Given the description of an element on the screen output the (x, y) to click on. 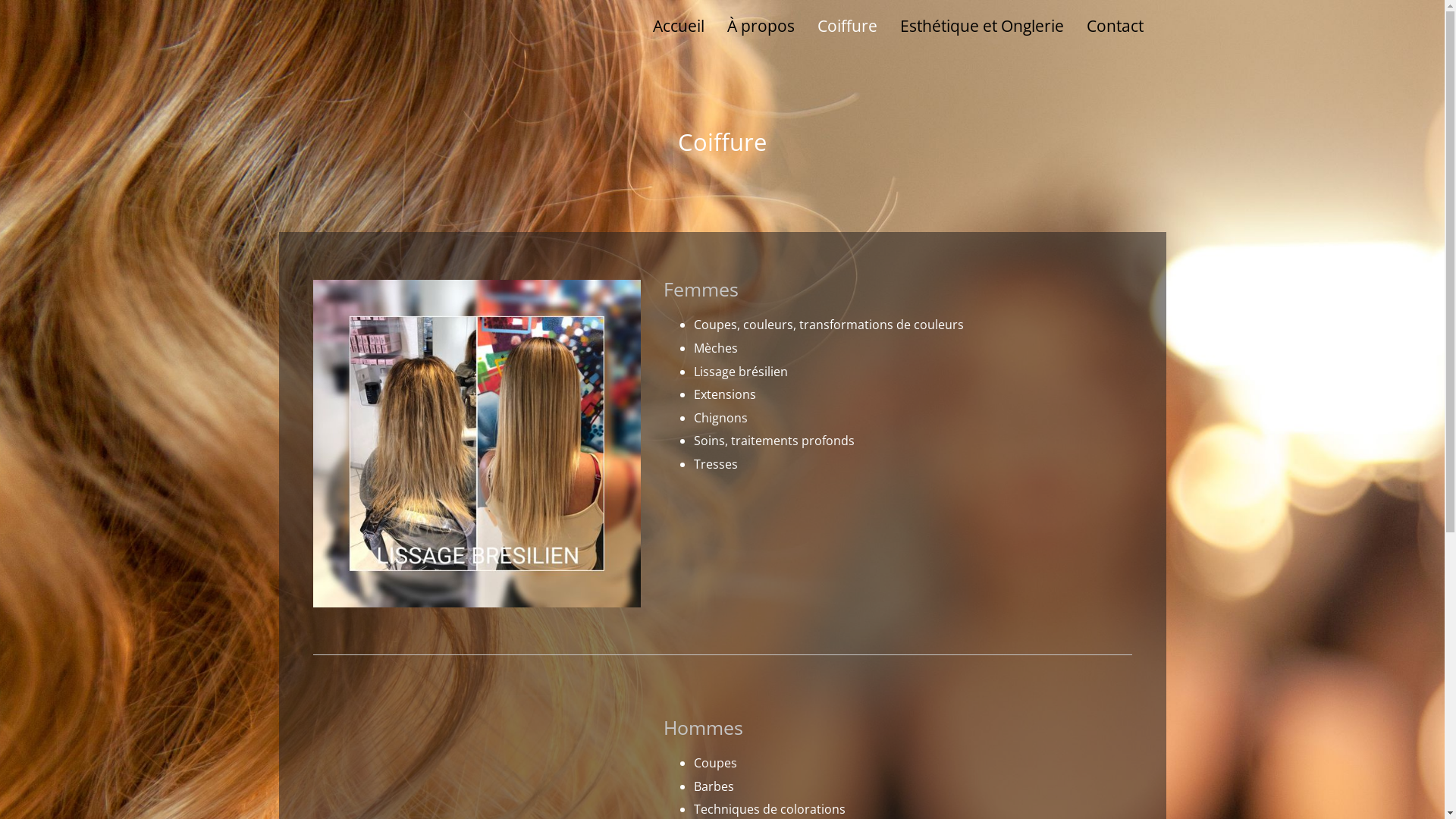
Accueil Element type: text (677, 26)
Coiffure Element type: text (847, 26)
Contact Element type: text (1113, 26)
